Given the description of an element on the screen output the (x, y) to click on. 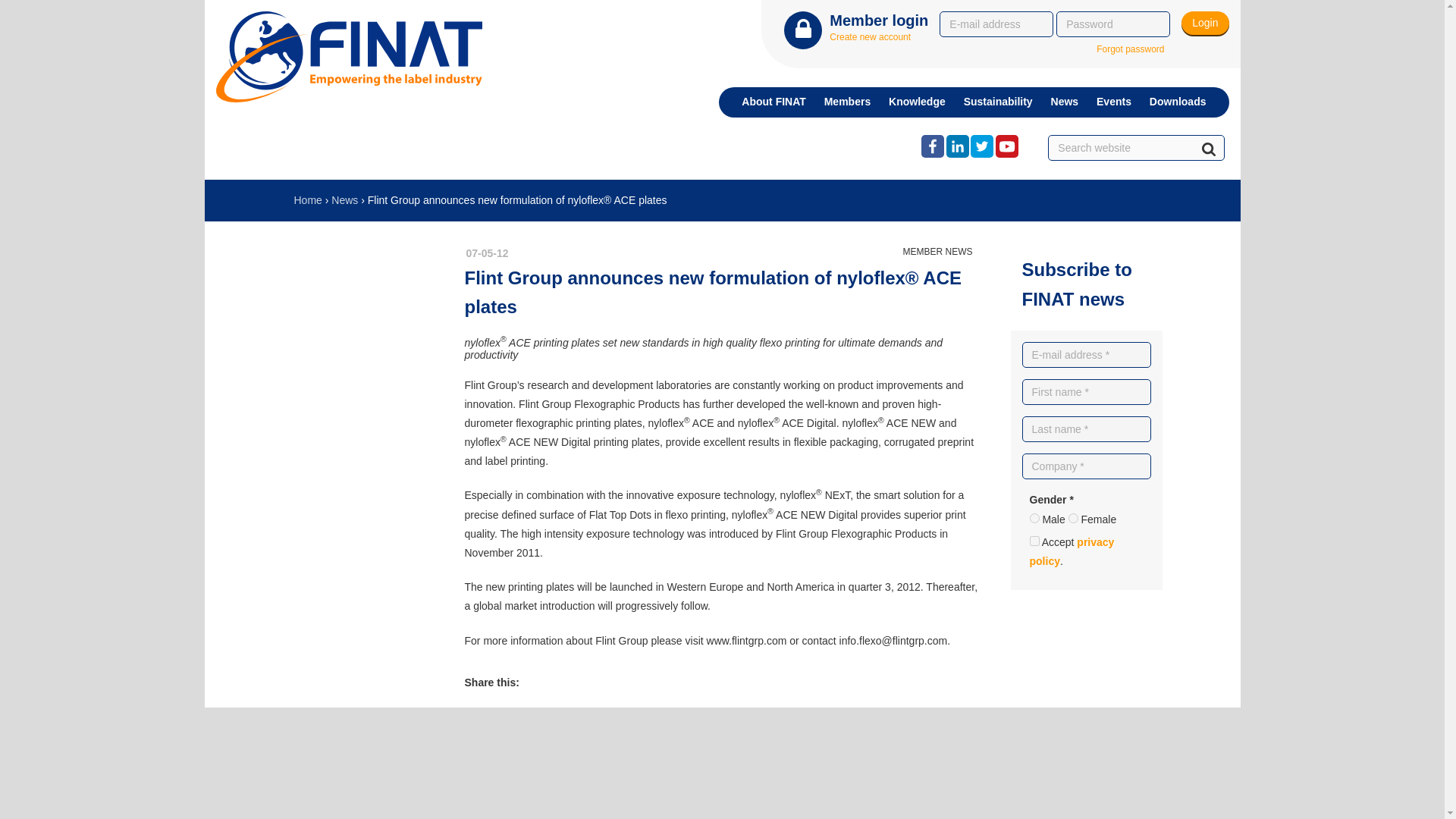
Create new account (870, 36)
man (1034, 518)
Login (1204, 23)
1 (1034, 541)
Forgot password (1129, 49)
vrouw (1073, 518)
